Given the description of an element on the screen output the (x, y) to click on. 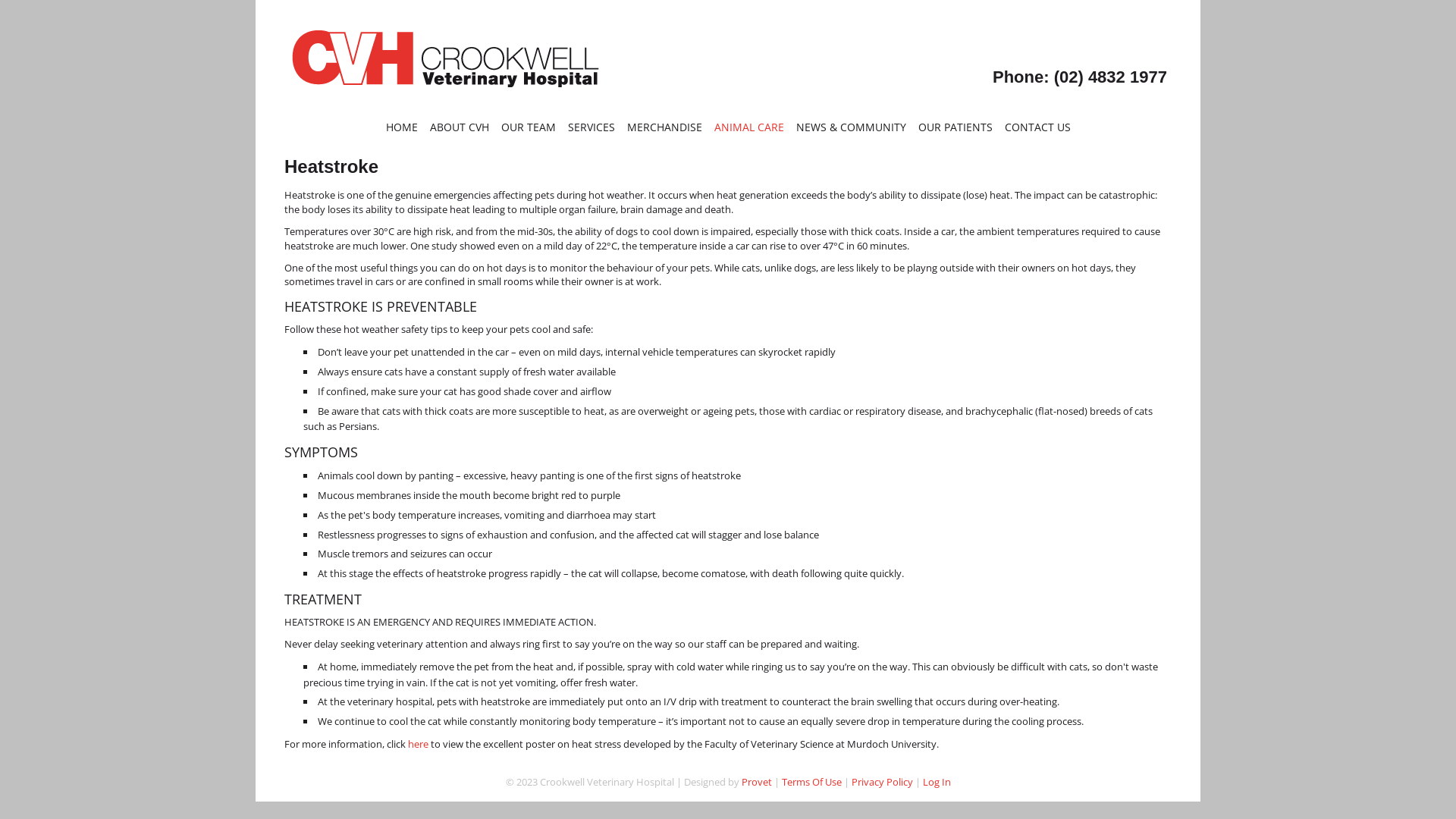
Log In Element type: text (936, 781)
Privacy Policy Element type: text (881, 781)
CONTACT US Element type: text (1036, 125)
Terms Of Use Element type: text (810, 781)
ANIMAL CARE Element type: text (749, 125)
Provet Element type: text (756, 781)
OUR TEAM Element type: text (527, 125)
MERCHANDISE Element type: text (663, 125)
OUR PATIENTS Element type: text (954, 125)
NEWS & COMMUNITY Element type: text (851, 125)
here Element type: text (417, 743)
SERVICES Element type: text (590, 125)
ABOUT CVH Element type: text (458, 125)
HOME Element type: text (401, 125)
